Given the description of an element on the screen output the (x, y) to click on. 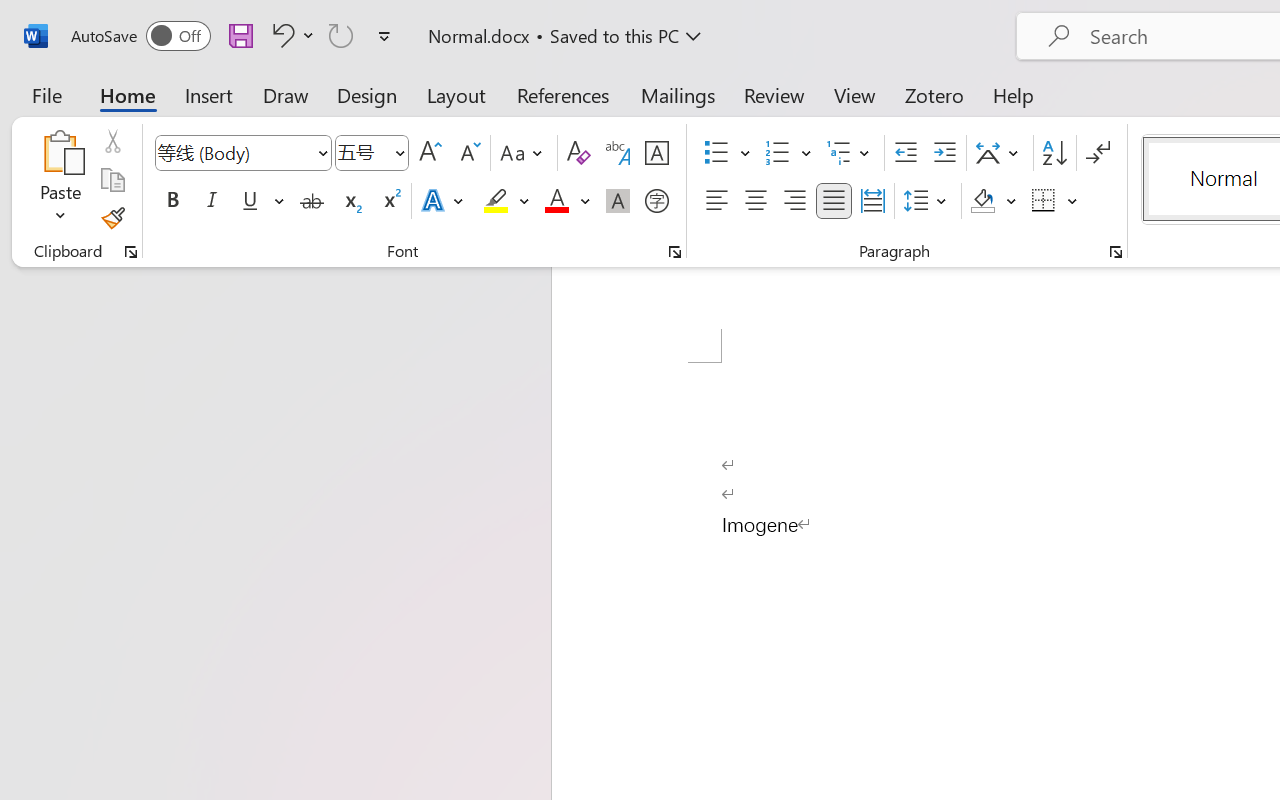
Italic (212, 201)
